Given the description of an element on the screen output the (x, y) to click on. 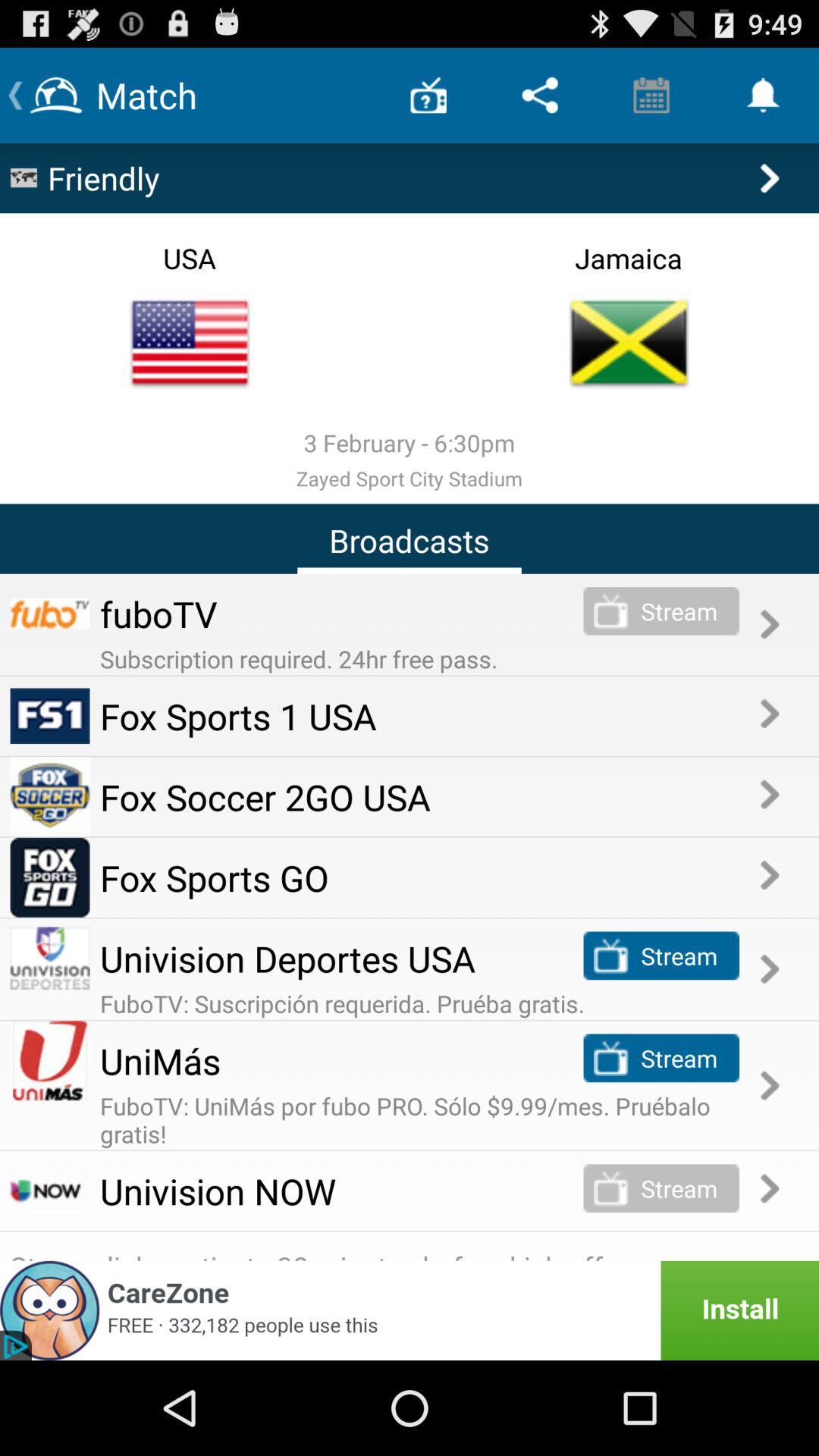
view the advertisement (409, 1310)
